Given the description of an element on the screen output the (x, y) to click on. 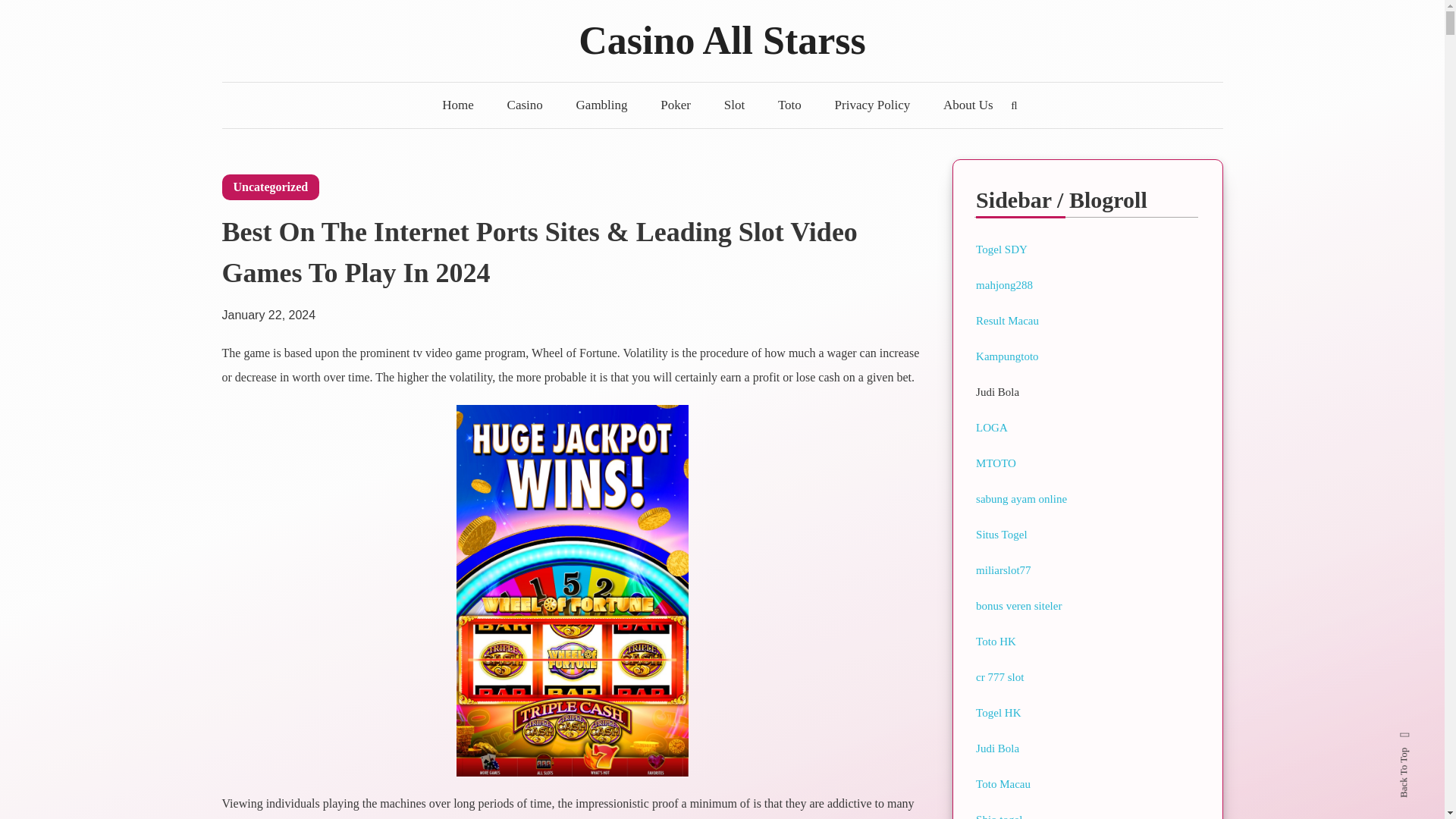
Result Macau (1007, 320)
Home (457, 104)
Togel SDY (1001, 249)
Privacy Policy (872, 104)
LOGA (991, 427)
sabung ayam online (1021, 499)
Search (768, 432)
Slot (734, 104)
Judi Bola (997, 748)
Gambling (601, 104)
